Given the description of an element on the screen output the (x, y) to click on. 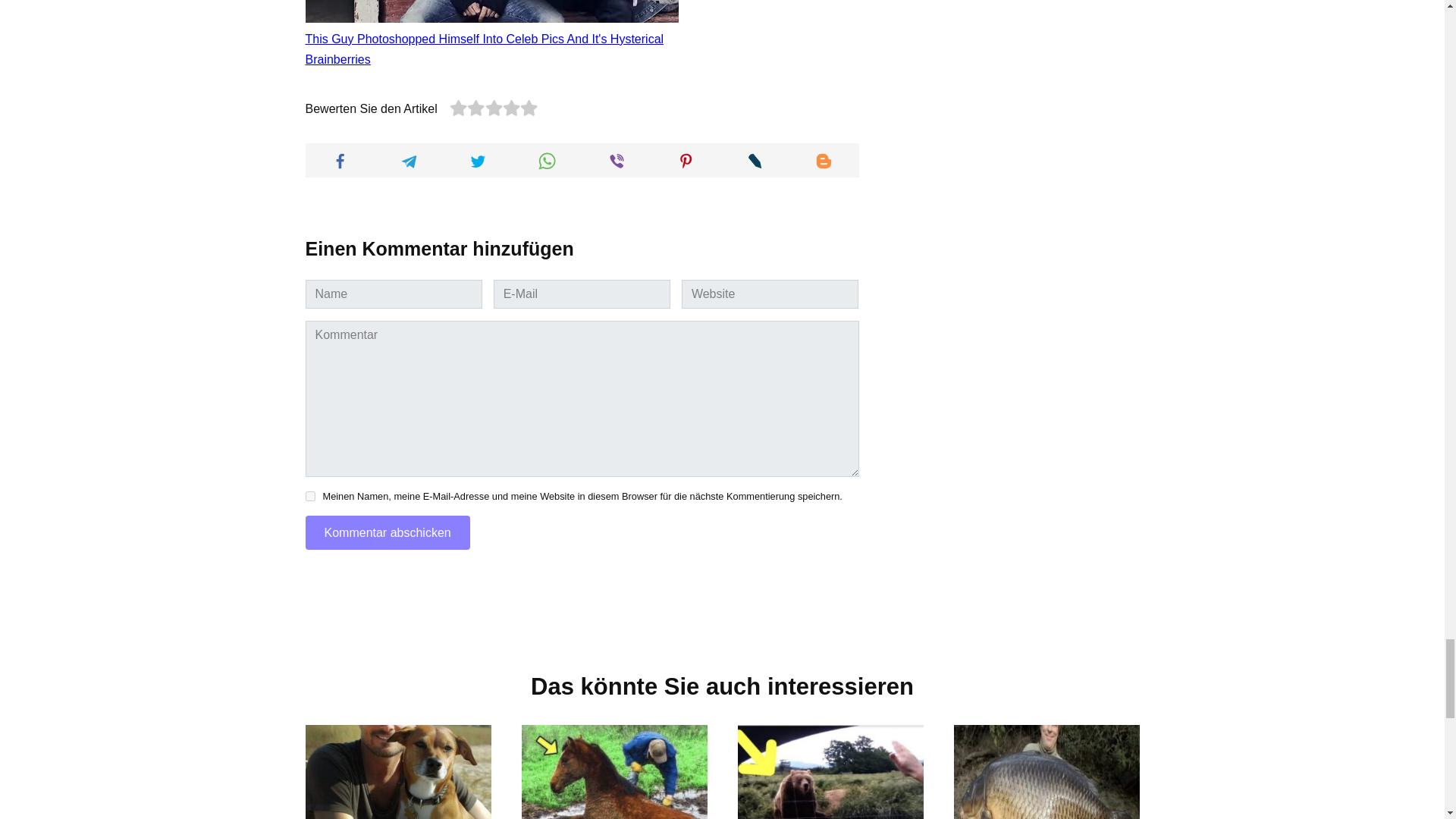
Kommentar abschicken (386, 532)
Kommentar abschicken (386, 532)
yes (309, 496)
